Given the description of an element on the screen output the (x, y) to click on. 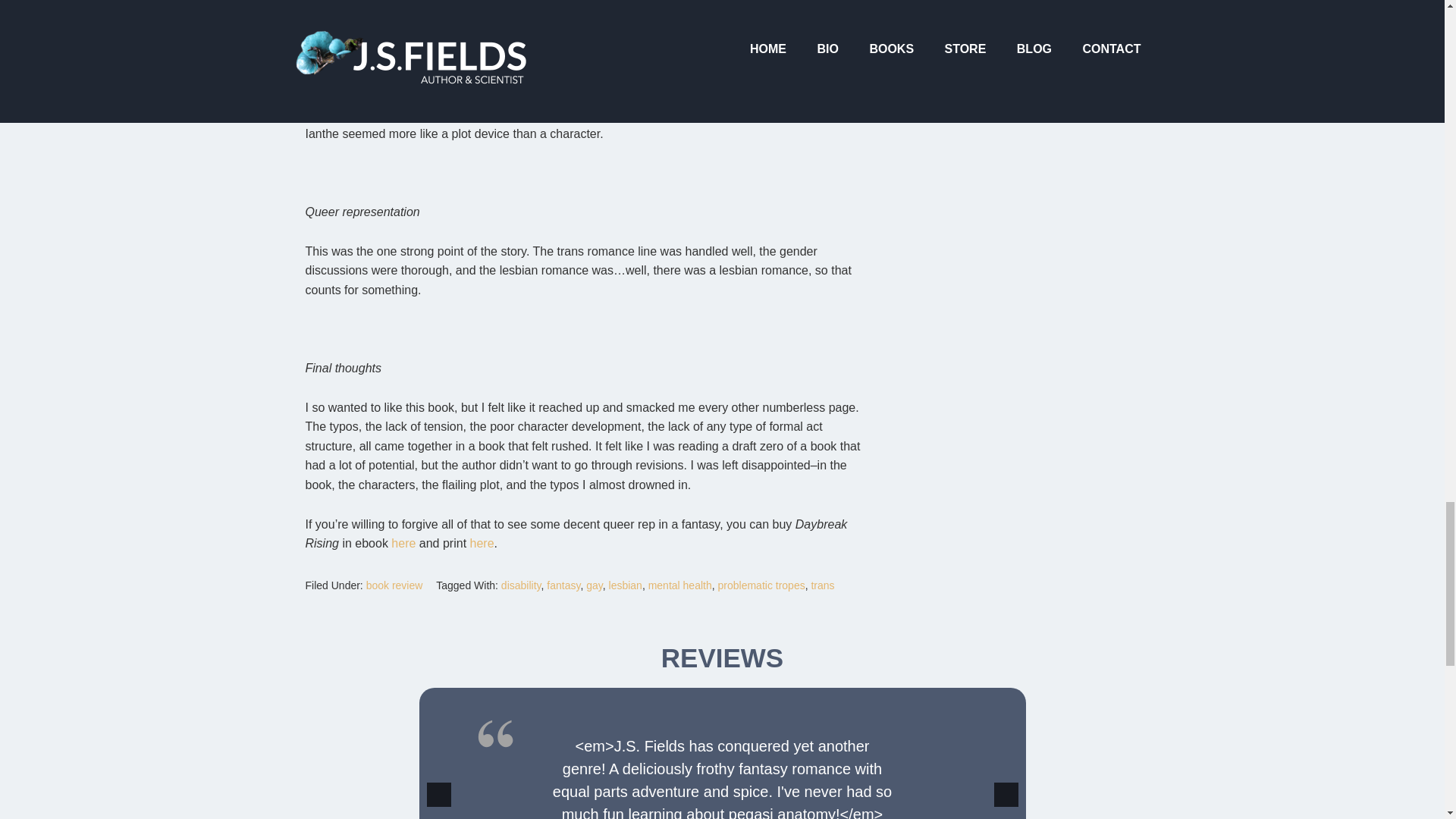
here (402, 543)
mental health (679, 585)
here (482, 543)
gay (594, 585)
fantasy (563, 585)
book review (394, 585)
trans (822, 585)
disability (520, 585)
lesbian (625, 585)
problematic tropes (761, 585)
